Given the description of an element on the screen output the (x, y) to click on. 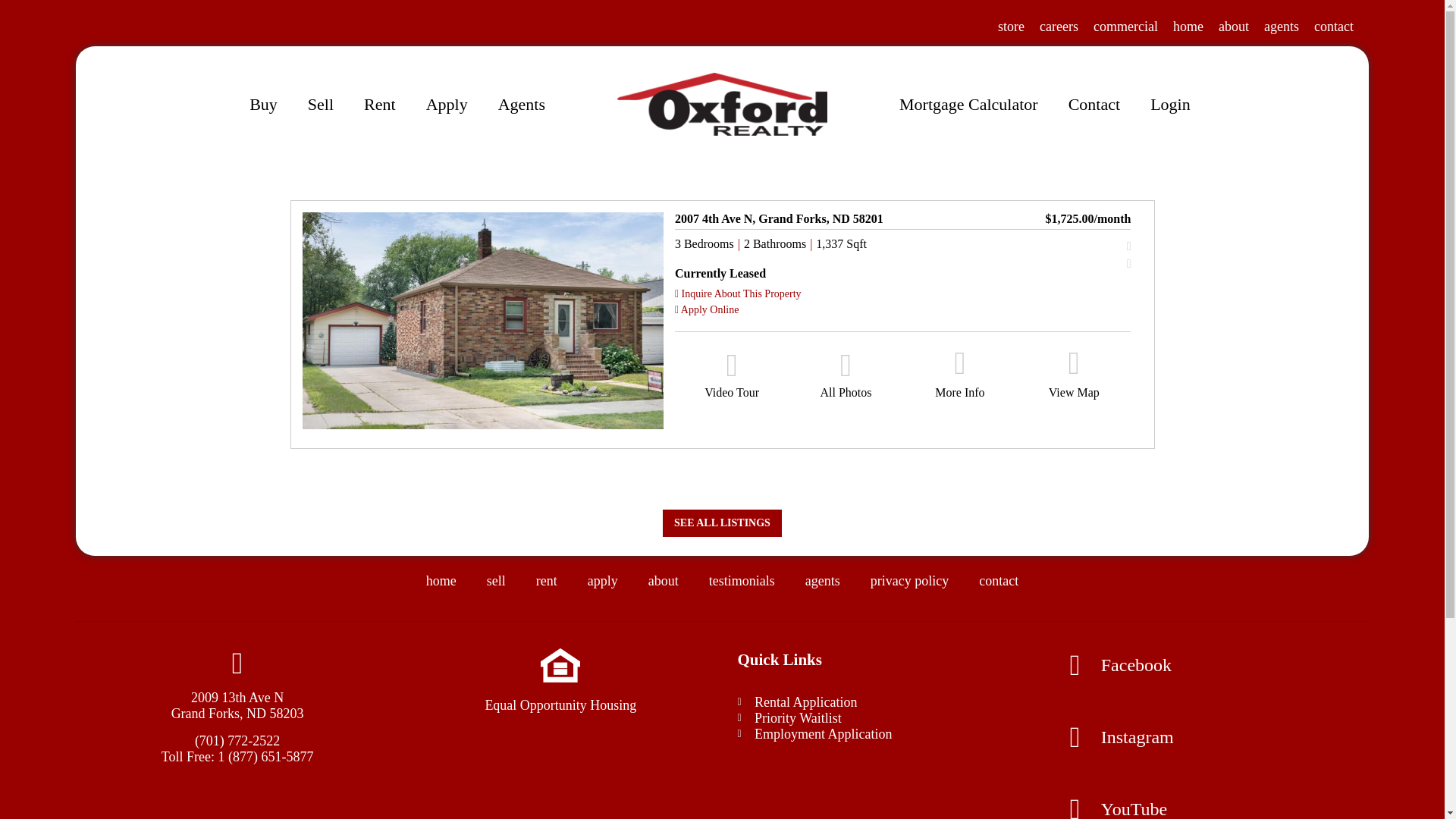
Inquire About This Property (738, 293)
Buy (263, 104)
Login (1170, 104)
Apply (446, 104)
Sell (320, 104)
Apply Online (706, 309)
commercial (1125, 26)
home (1188, 26)
Save (1107, 246)
contact (1334, 26)
Rent (379, 104)
Share (1107, 264)
careers (1058, 26)
Contact (1093, 104)
about (1233, 26)
